Given the description of an element on the screen output the (x, y) to click on. 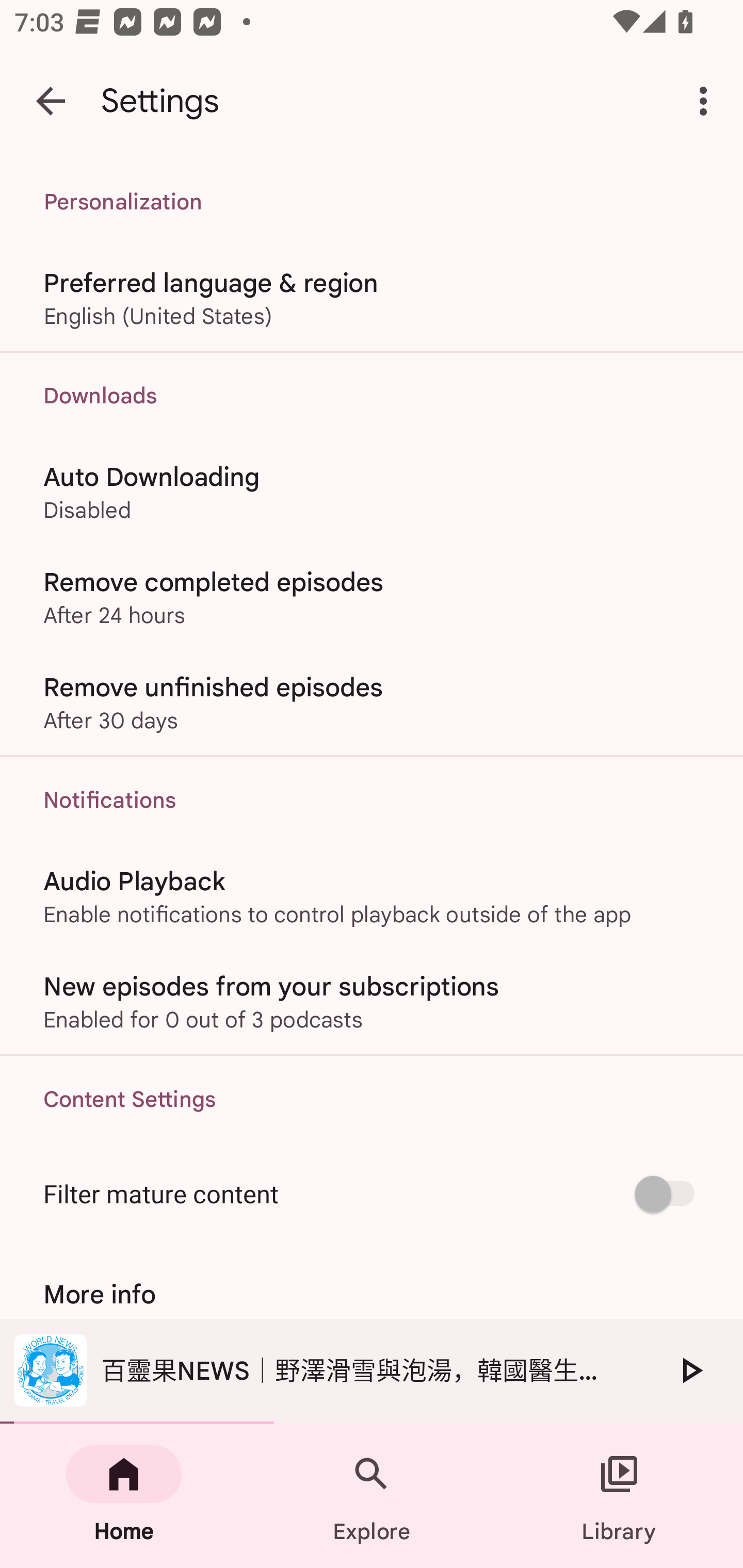
Navigate up (50, 101)
More options (706, 101)
Auto Downloading Disabled (371, 491)
Remove completed episodes After 24 hours (371, 596)
Remove unfinished episodes After 30 days (371, 702)
More info (371, 1294)
Play (690, 1370)
Explore (371, 1495)
Library (619, 1495)
